Given the description of an element on the screen output the (x, y) to click on. 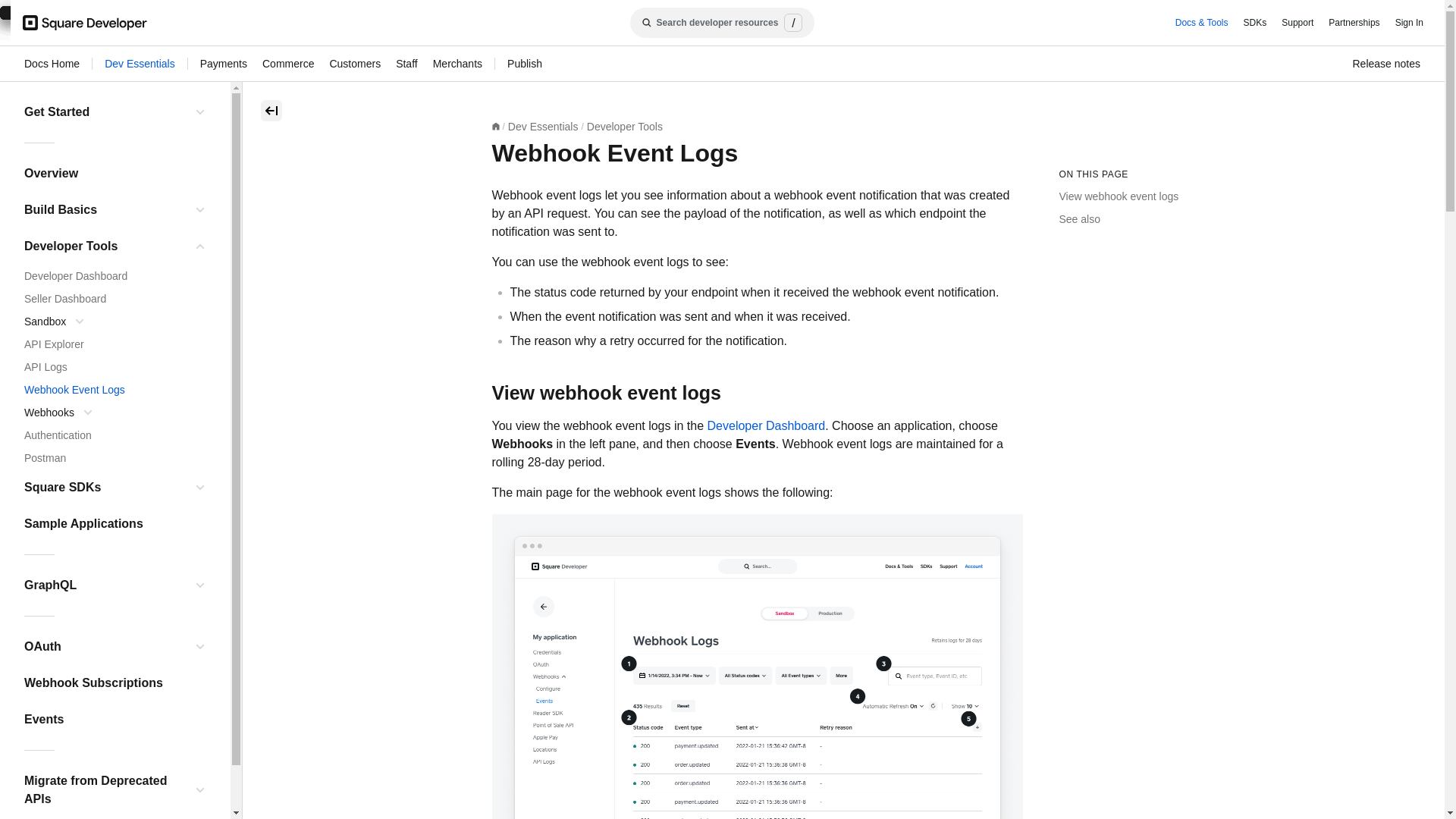
Dev Essentials (139, 63)
Publish (523, 63)
Partnerships (1353, 22)
SDKs (1255, 22)
Get Started (104, 112)
Merchants (456, 63)
Customers (354, 63)
Release notes (1386, 63)
Support (1296, 22)
Payments (223, 63)
